Given the description of an element on the screen output the (x, y) to click on. 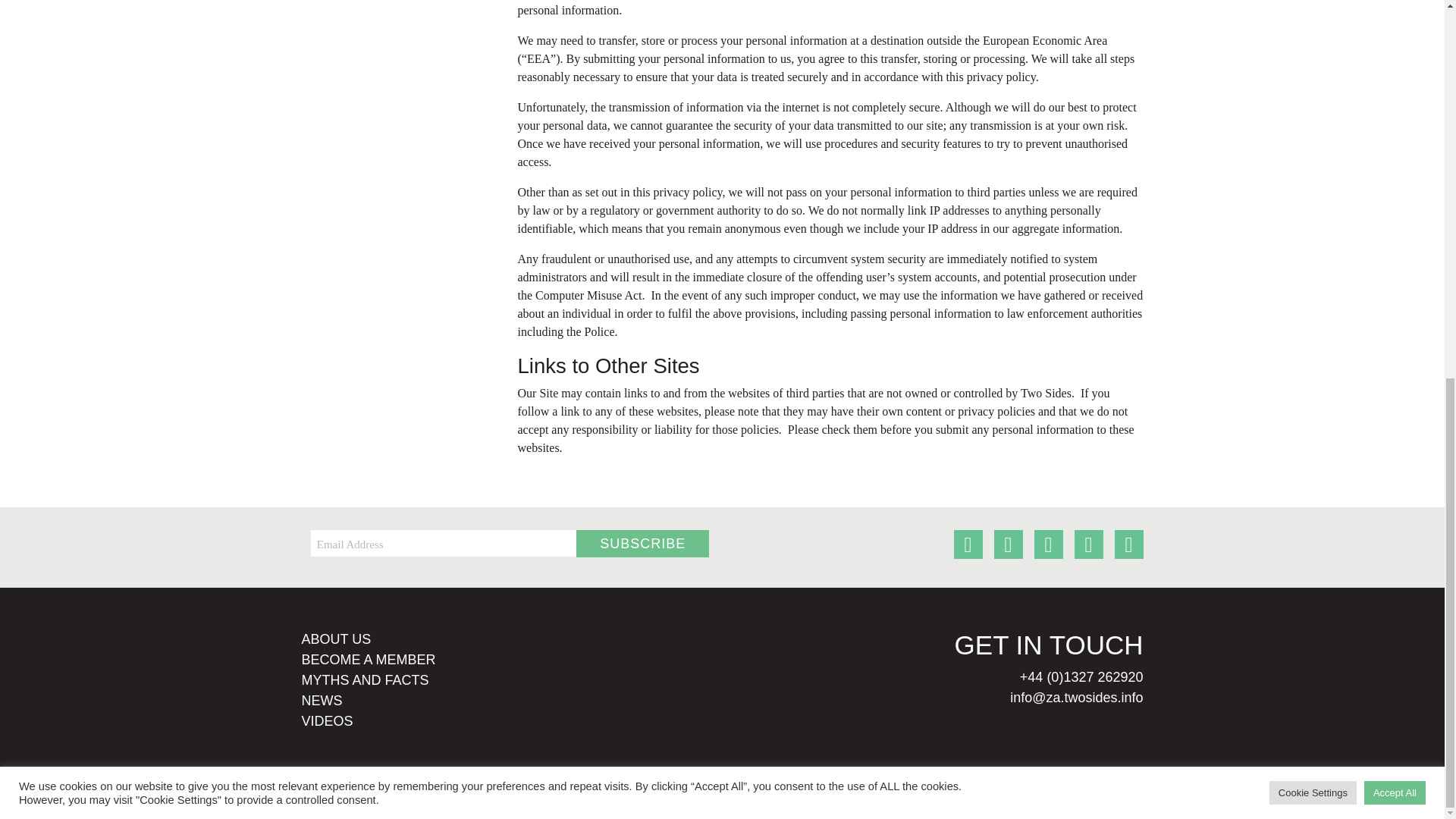
Subscribe (642, 543)
